Given the description of an element on the screen output the (x, y) to click on. 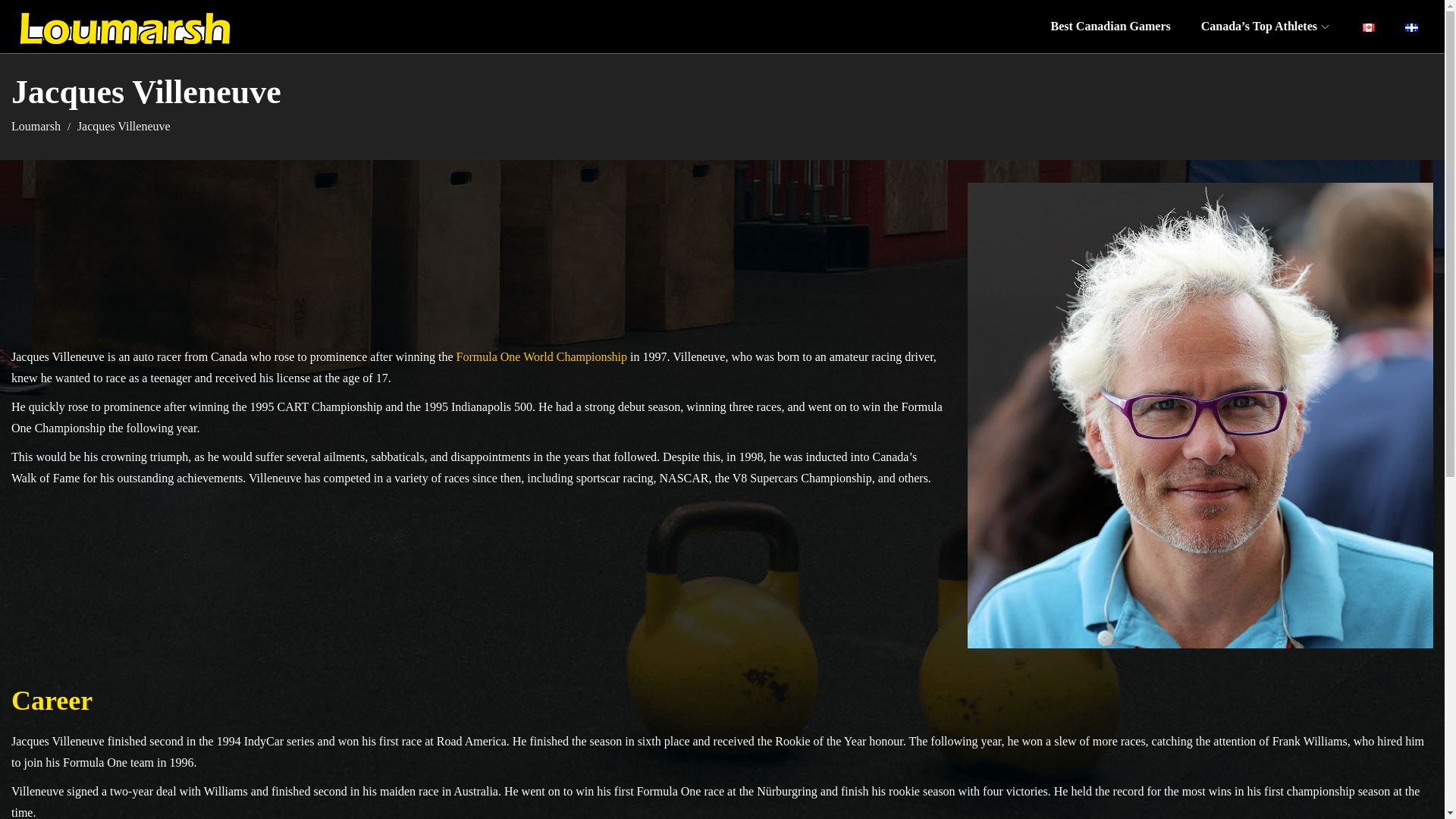
Formula One World Championship (542, 356)
Loumarsh (37, 125)
Best Canadian Gamers (1110, 26)
